Given the description of an element on the screen output the (x, y) to click on. 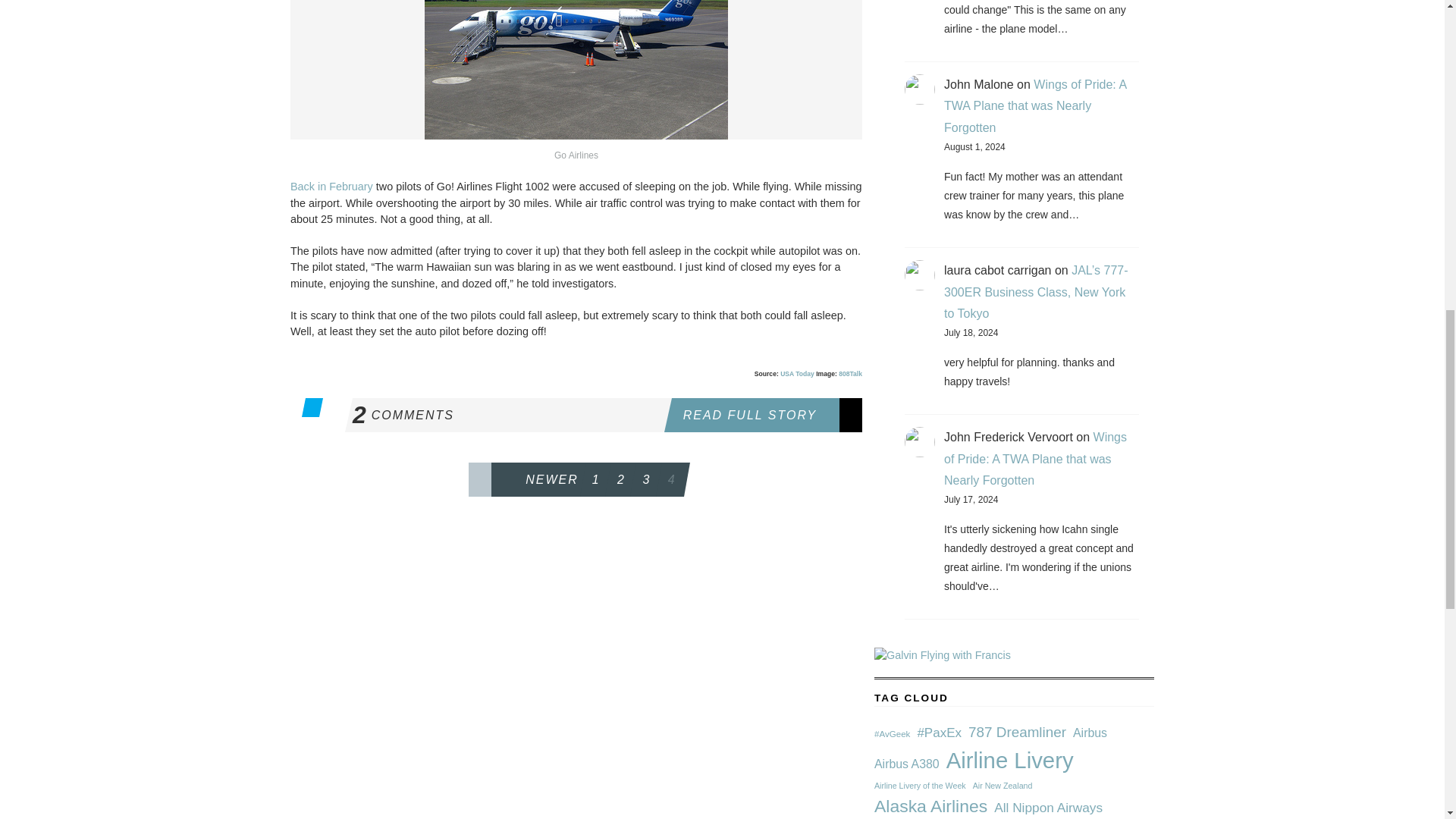
808Talk (507, 415)
NEWER (849, 372)
READ FULL STORY (525, 479)
Back in February (766, 415)
goairline-thumb-400x266 (330, 186)
USA Today (576, 69)
